Given the description of an element on the screen output the (x, y) to click on. 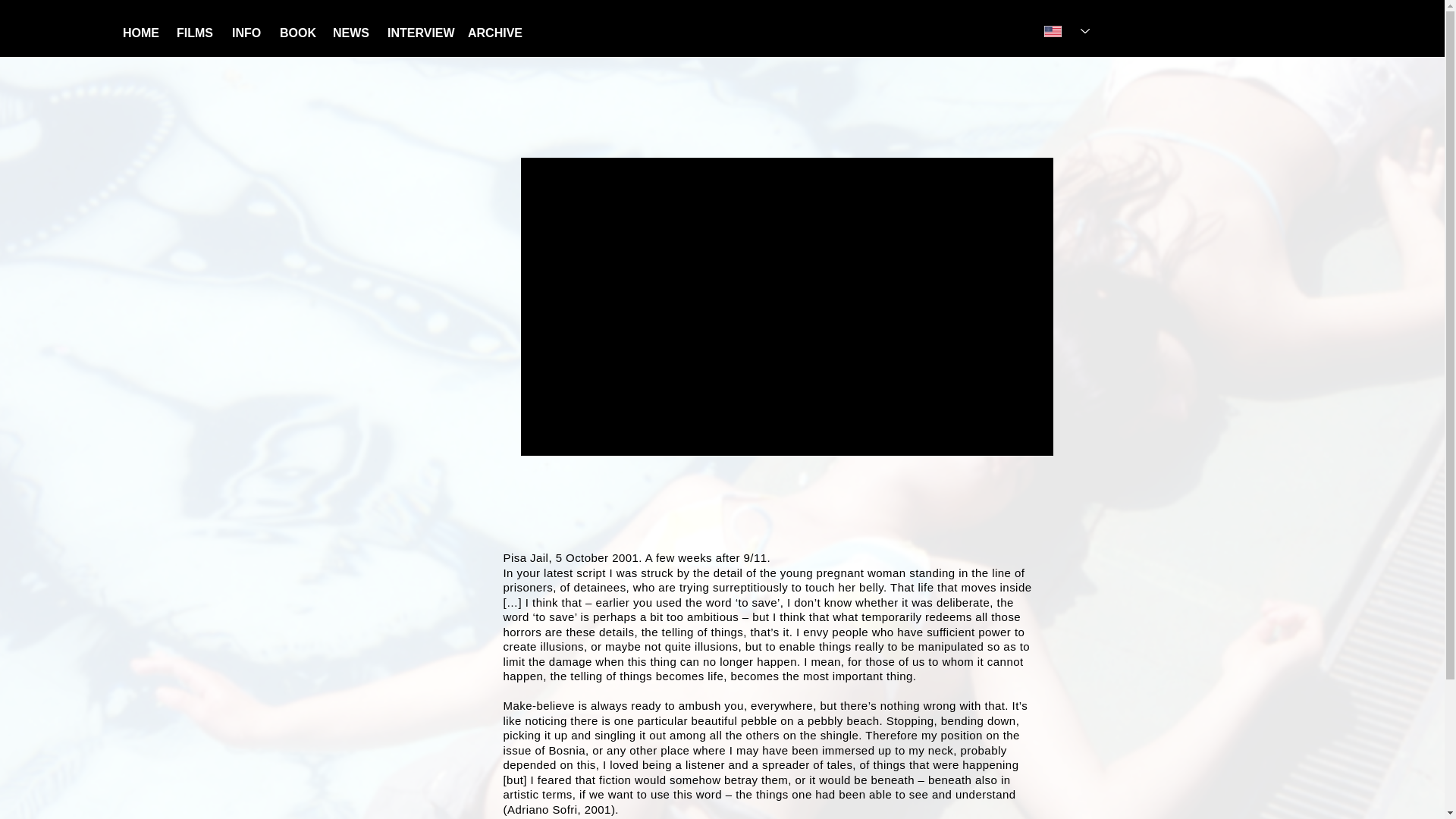
FILMS (193, 32)
INTERVIEW (416, 32)
NEWS (348, 32)
BOOK (294, 32)
INFO (244, 32)
HOME (138, 32)
ARCHIVE (491, 32)
